Given the description of an element on the screen output the (x, y) to click on. 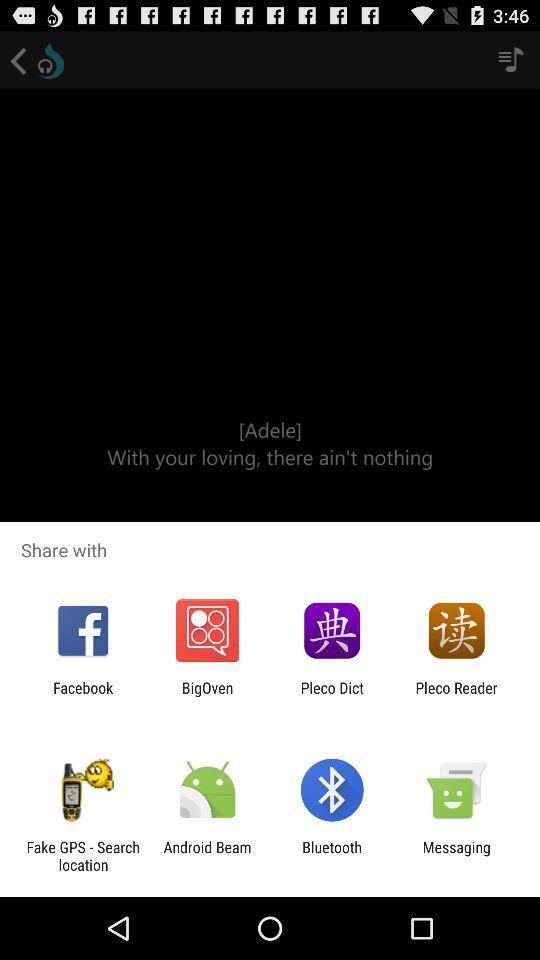
click item next to the bigoven icon (331, 696)
